Given the description of an element on the screen output the (x, y) to click on. 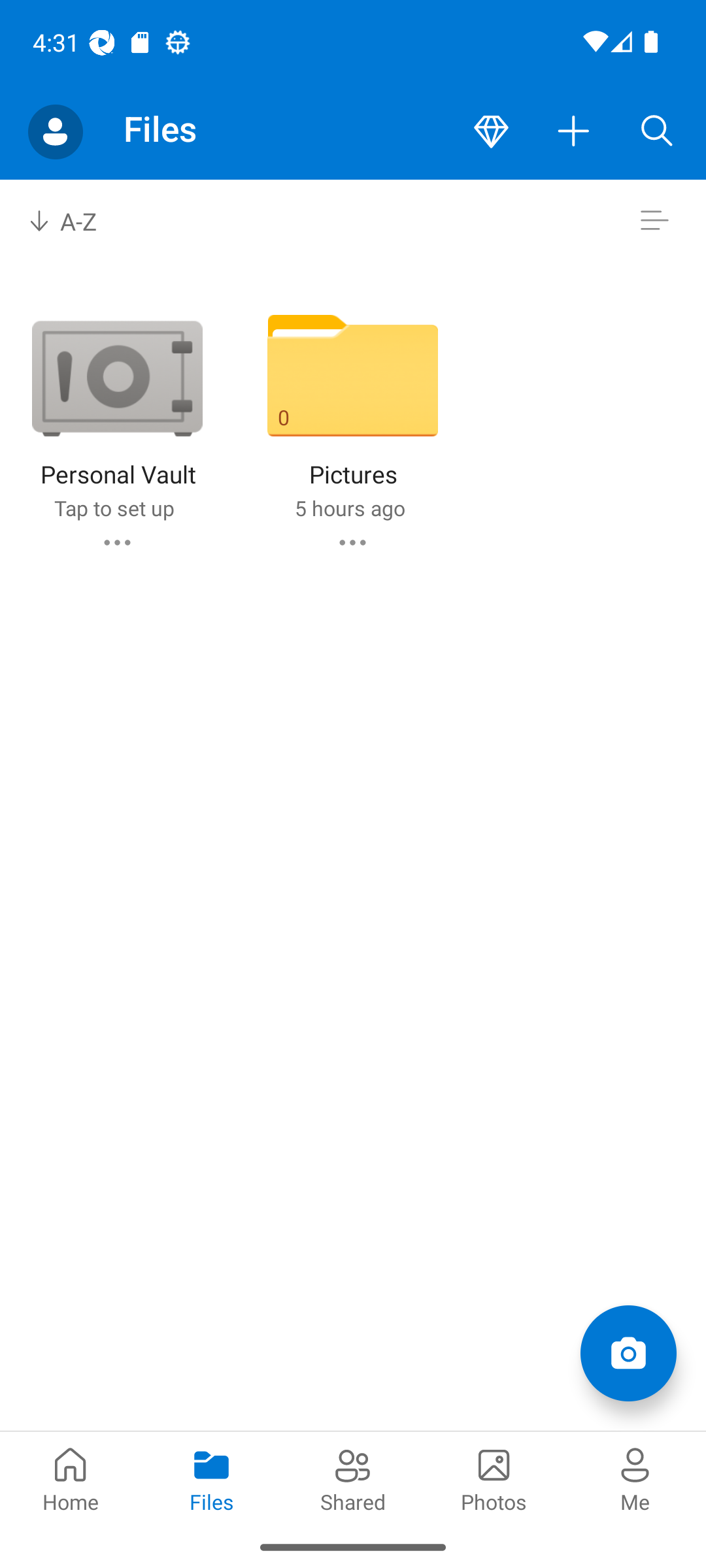
Account switcher (55, 131)
Premium button (491, 131)
More actions button (574, 131)
Search button (656, 131)
A-Z Sort by combo box, sort by name, A to Z (76, 220)
Switch to list view (654, 220)
Tap to set up (113, 507)
5 hours ago (349, 507)
Personal Vault commands (116, 542)
Pictures commands (352, 542)
Add items Scan (628, 1352)
Home pivot Home (70, 1478)
Shared pivot Shared (352, 1478)
Photos pivot Photos (493, 1478)
Me pivot Me (635, 1478)
